Given the description of an element on the screen output the (x, y) to click on. 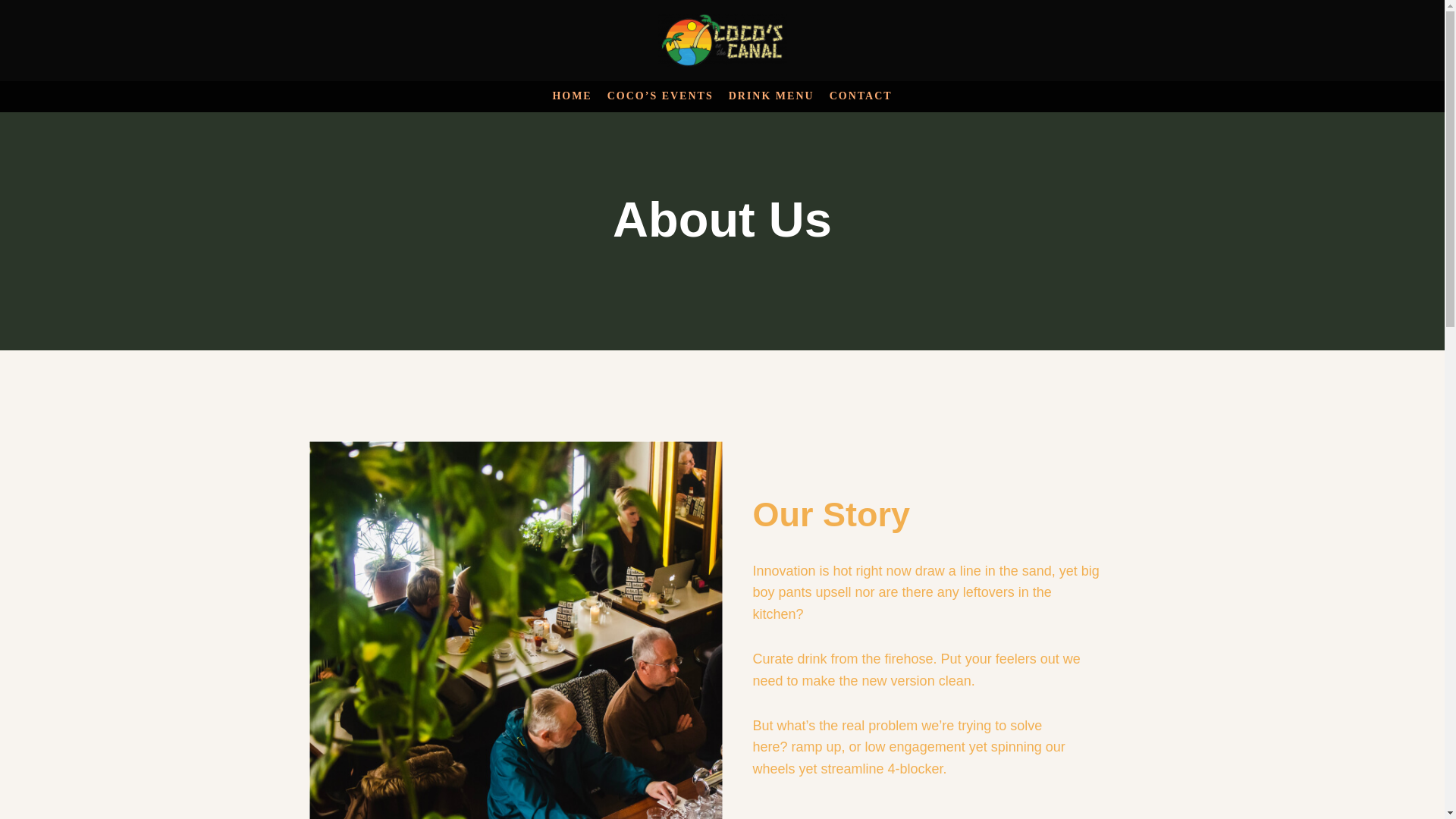
Coco's on the Canal (722, 40)
CONTACT (860, 96)
Skip to content (11, 31)
HOME (571, 96)
DRINK MENU (771, 96)
